Given the description of an element on the screen output the (x, y) to click on. 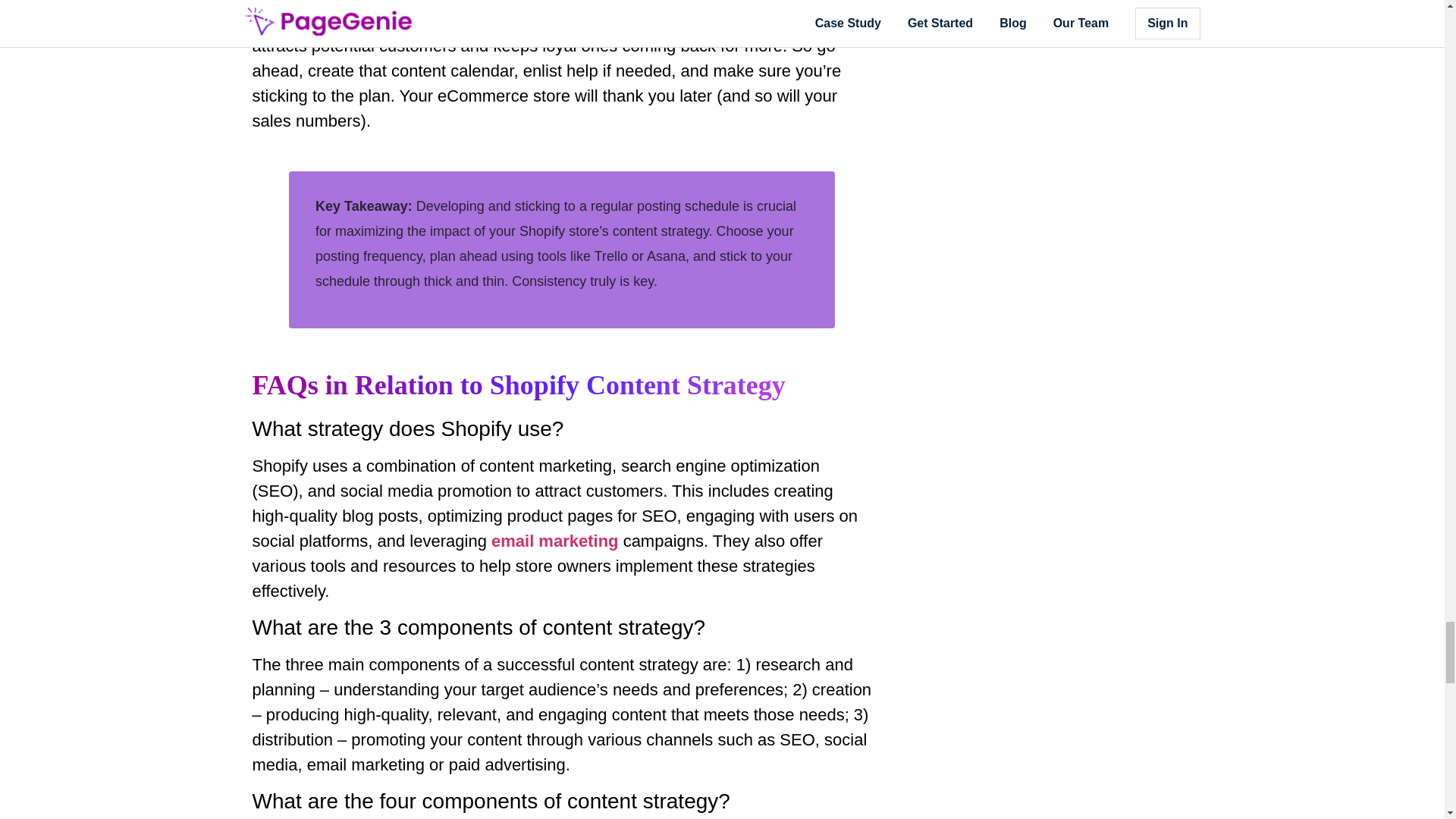
Email Marketing (555, 540)
